Given the description of an element on the screen output the (x, y) to click on. 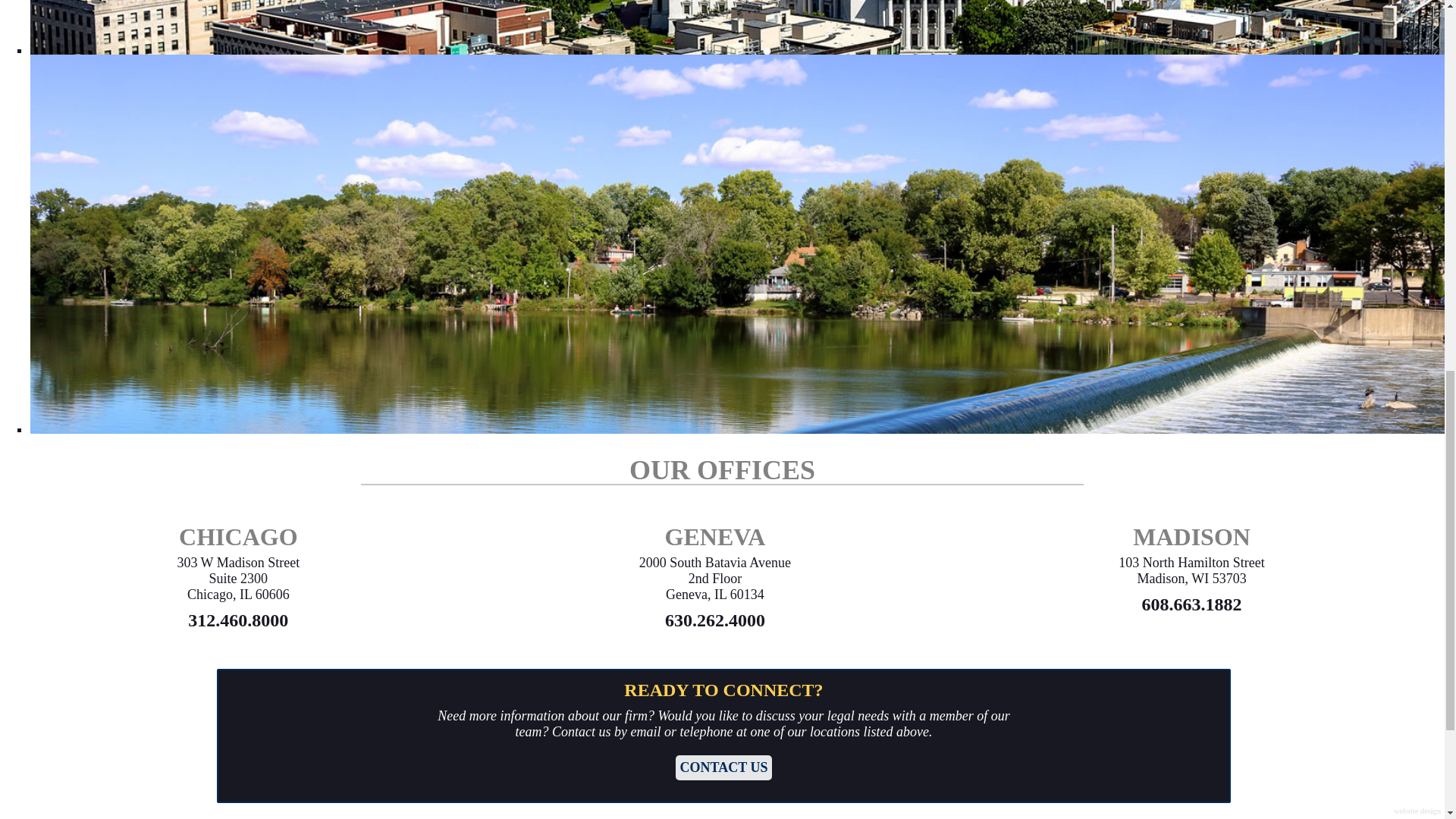
CONTACT US (724, 767)
